Given the description of an element on the screen output the (x, y) to click on. 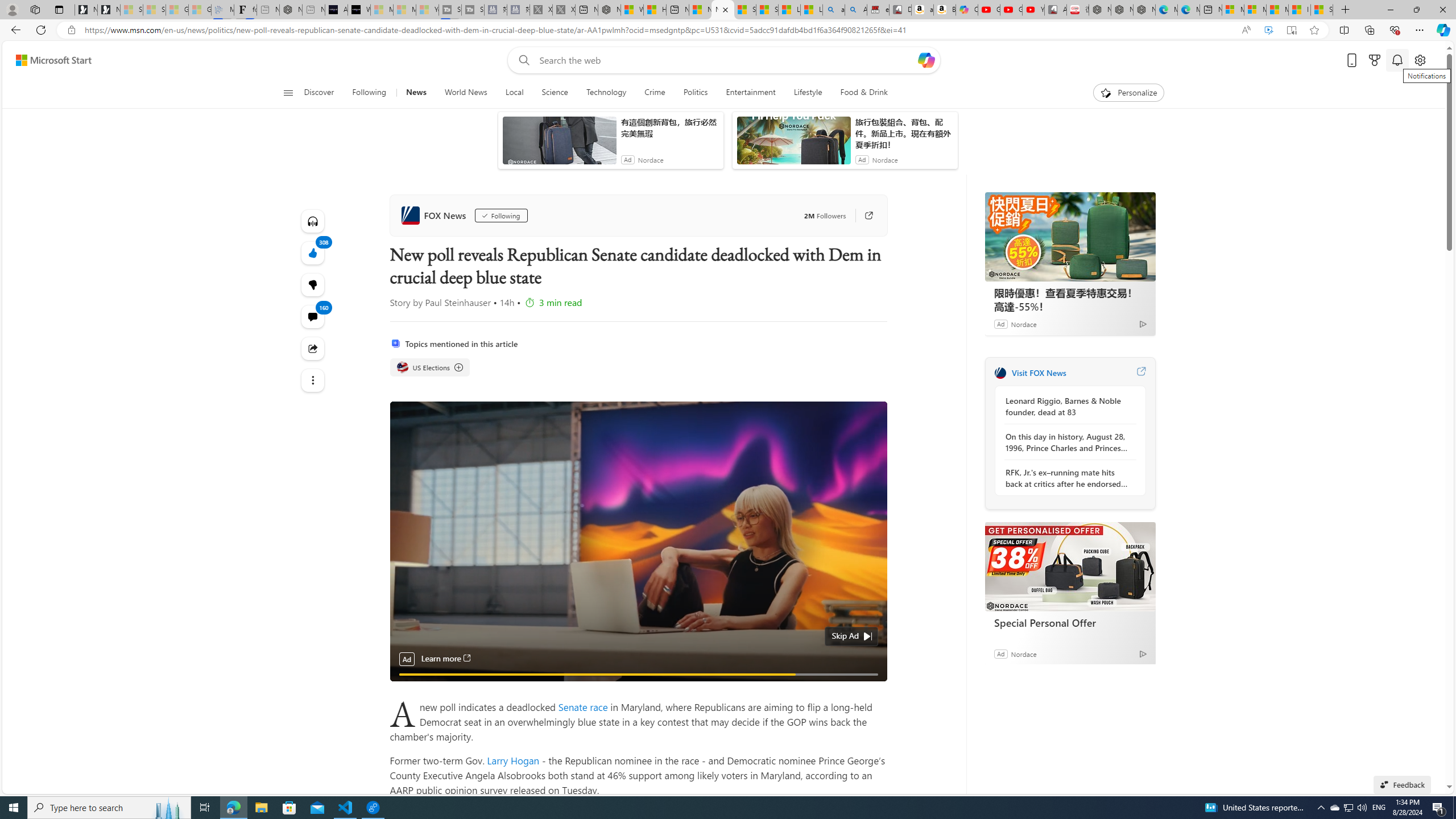
Nordace - #1 Japanese Best-Seller - Siena Smart Backpack (291, 9)
Share this story (312, 348)
What's the best AI voice generator? - voice.ai (359, 9)
Food & Drink (859, 92)
FOX News (1000, 372)
World News (465, 92)
